Given the description of an element on the screen output the (x, y) to click on. 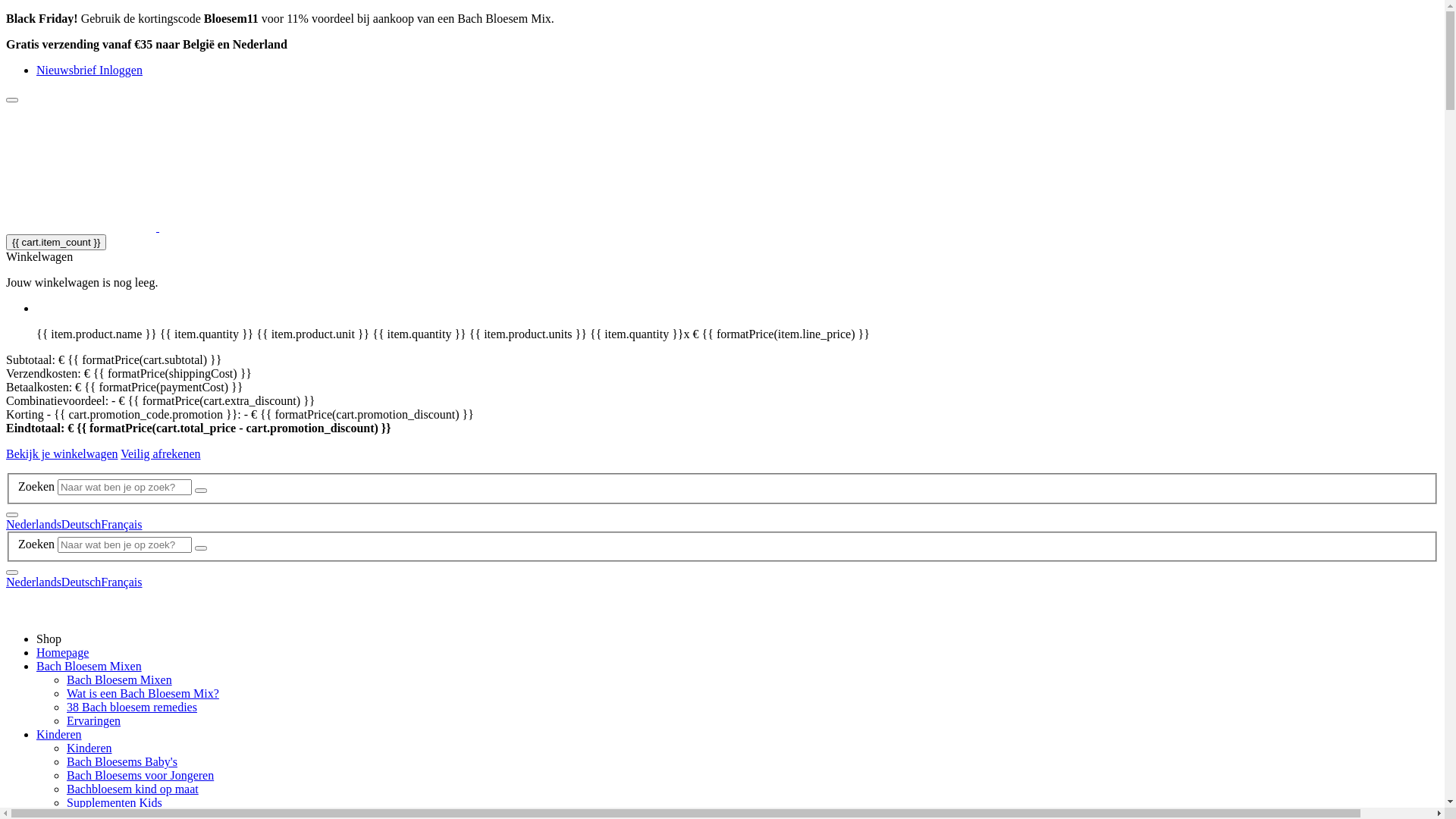
Deutsch Element type: text (80, 523)
Inloggen Element type: text (120, 69)
Nederlands Element type: text (33, 581)
Bach Bloesems voor Jongeren Element type: text (139, 774)
Bachbloesem kind op maat Element type: text (132, 788)
Kinderen Element type: text (89, 747)
Nieuwsbrief Element type: text (67, 69)
Veilig afrekenen Element type: text (160, 453)
Homepage Element type: text (62, 652)
38 Bach bloesem remedies Element type: text (131, 706)
Kracht uit de Natuur B.V. Element type: hover (195, 226)
Bekijk je winkelwagen Element type: text (62, 453)
Nederlands Element type: text (33, 523)
Deutsch Element type: text (80, 581)
Bach Bloesem Mixen Element type: text (119, 679)
Supplementen Kids Element type: text (114, 802)
Wat is een Bach Bloesem Mix? Element type: text (142, 693)
Bach Bloesems Baby's Element type: text (121, 761)
Bach Bloesem Mixen Element type: text (88, 665)
Kinderen Element type: text (58, 734)
Ervaringen Element type: text (93, 720)
